Given the description of an element on the screen output the (x, y) to click on. 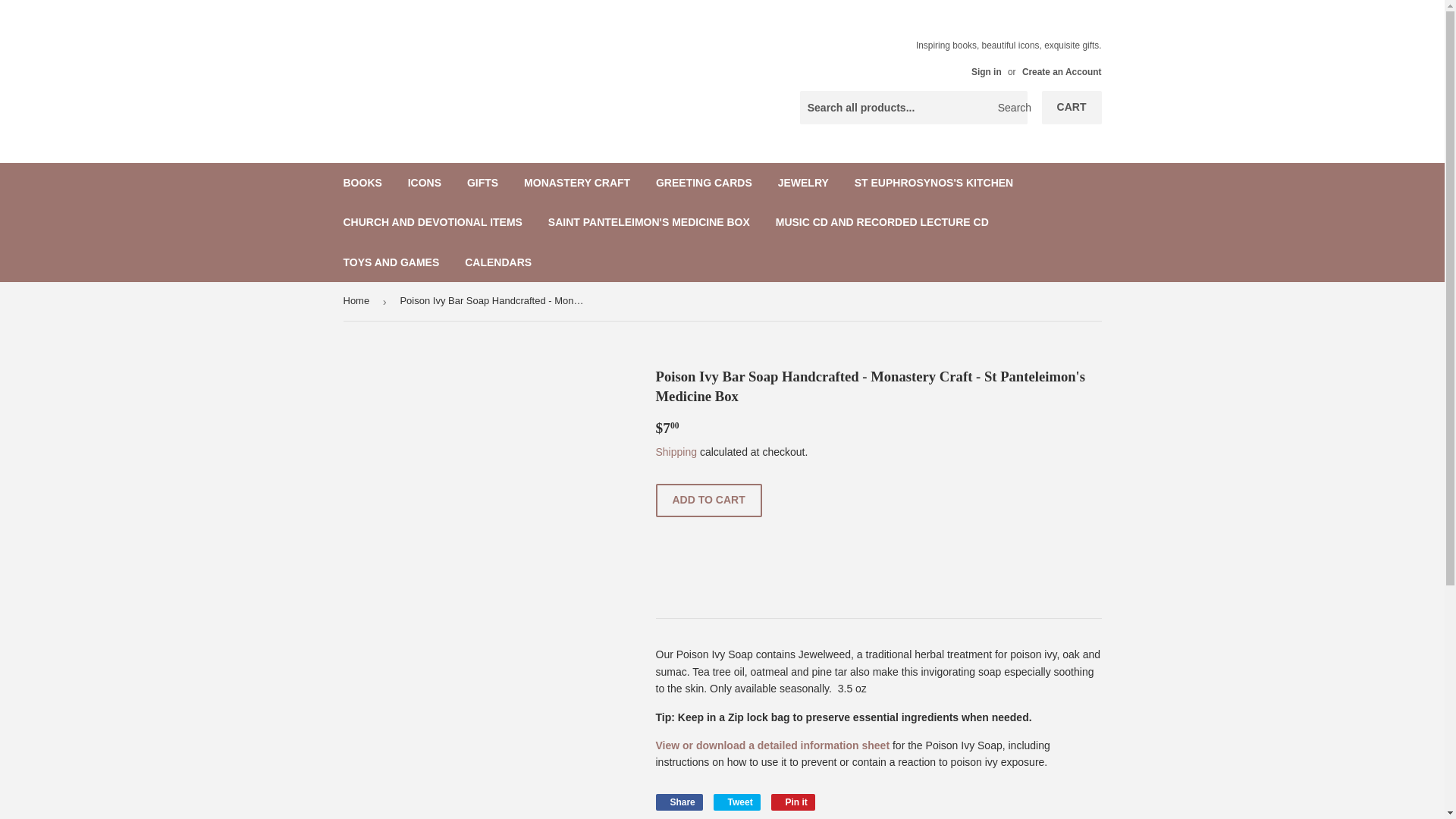
Search (1009, 108)
Share on Facebook (678, 801)
Tweet on Twitter (736, 801)
Pin on Pinterest (793, 801)
CART (1072, 107)
Create an Account (1062, 71)
Sign in (986, 71)
